Given the description of an element on the screen output the (x, y) to click on. 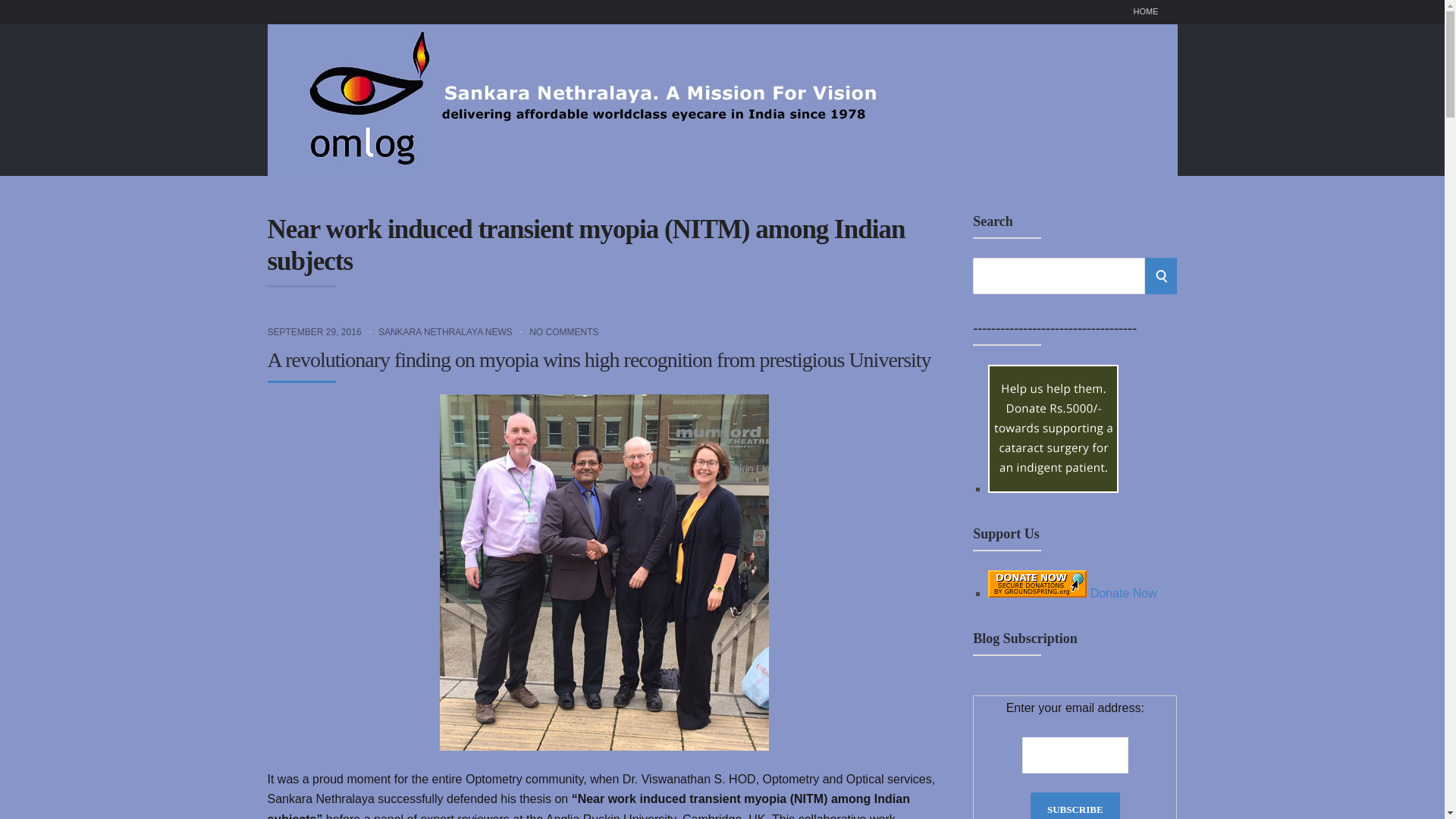
Donate Now (1072, 593)
Donate Now (1053, 488)
Subscribe (1074, 805)
Donate Now (1053, 428)
Subscribe (1074, 805)
SANKARA NETHRALAYA NEWS (445, 330)
HOME (1144, 11)
NO COMMENTS (563, 330)
